Given the description of an element on the screen output the (x, y) to click on. 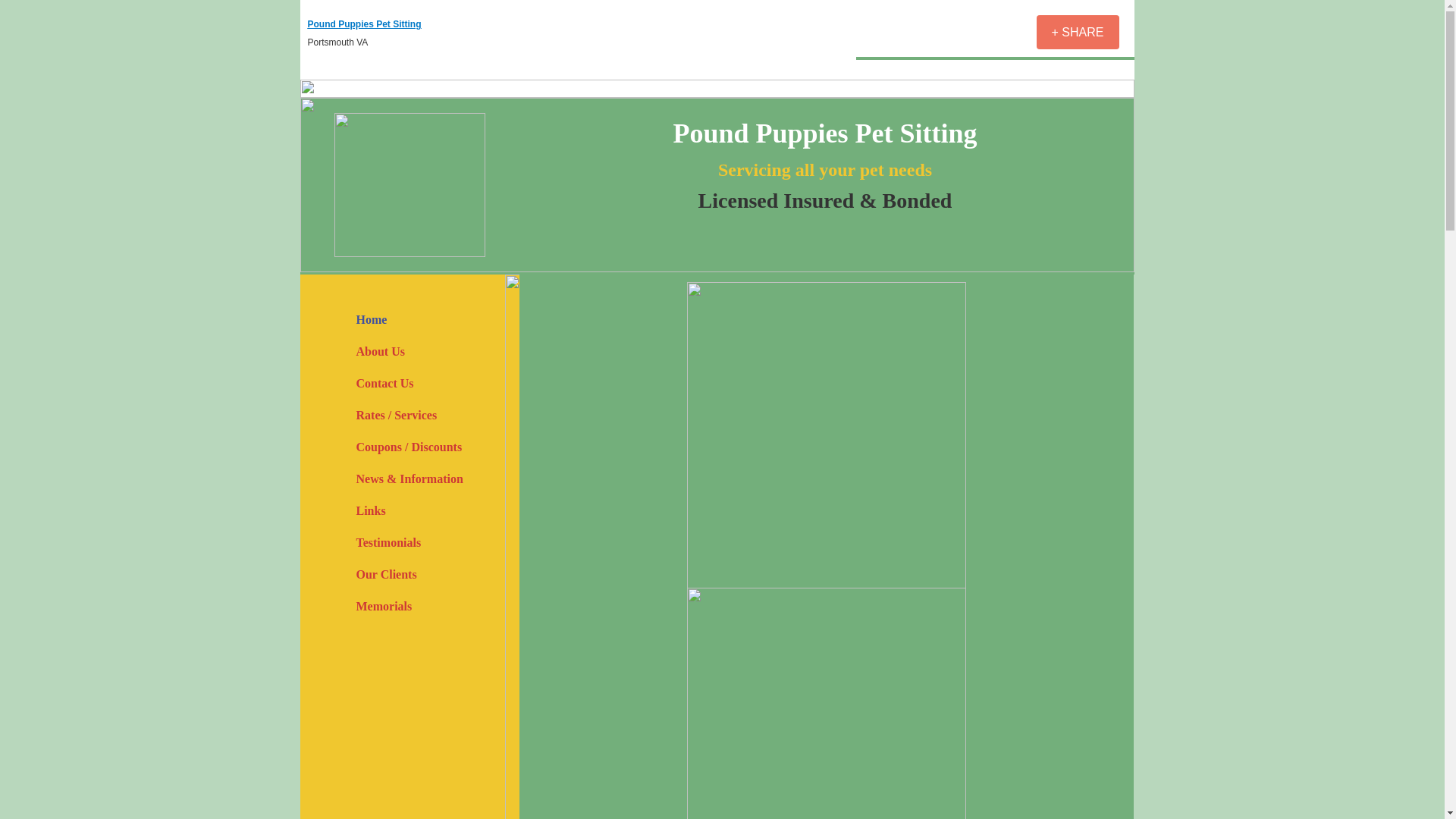
Home (371, 319)
Testimonials (389, 542)
Our Clients (387, 573)
About Us (380, 351)
Links (371, 510)
Contact Us (385, 383)
Memorials (384, 605)
